Given the description of an element on the screen output the (x, y) to click on. 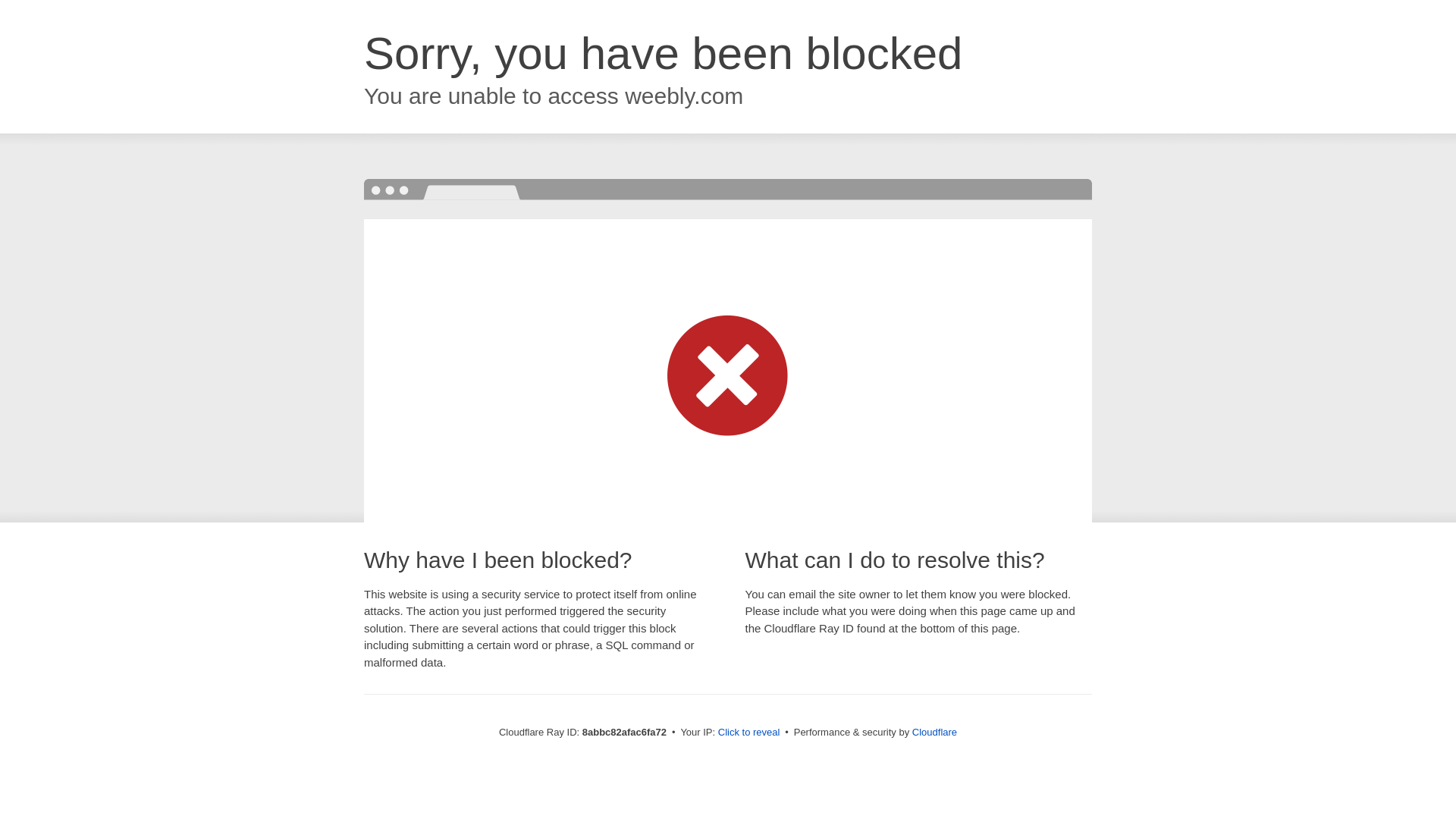
Click to reveal (748, 732)
Cloudflare (934, 731)
